Given the description of an element on the screen output the (x, y) to click on. 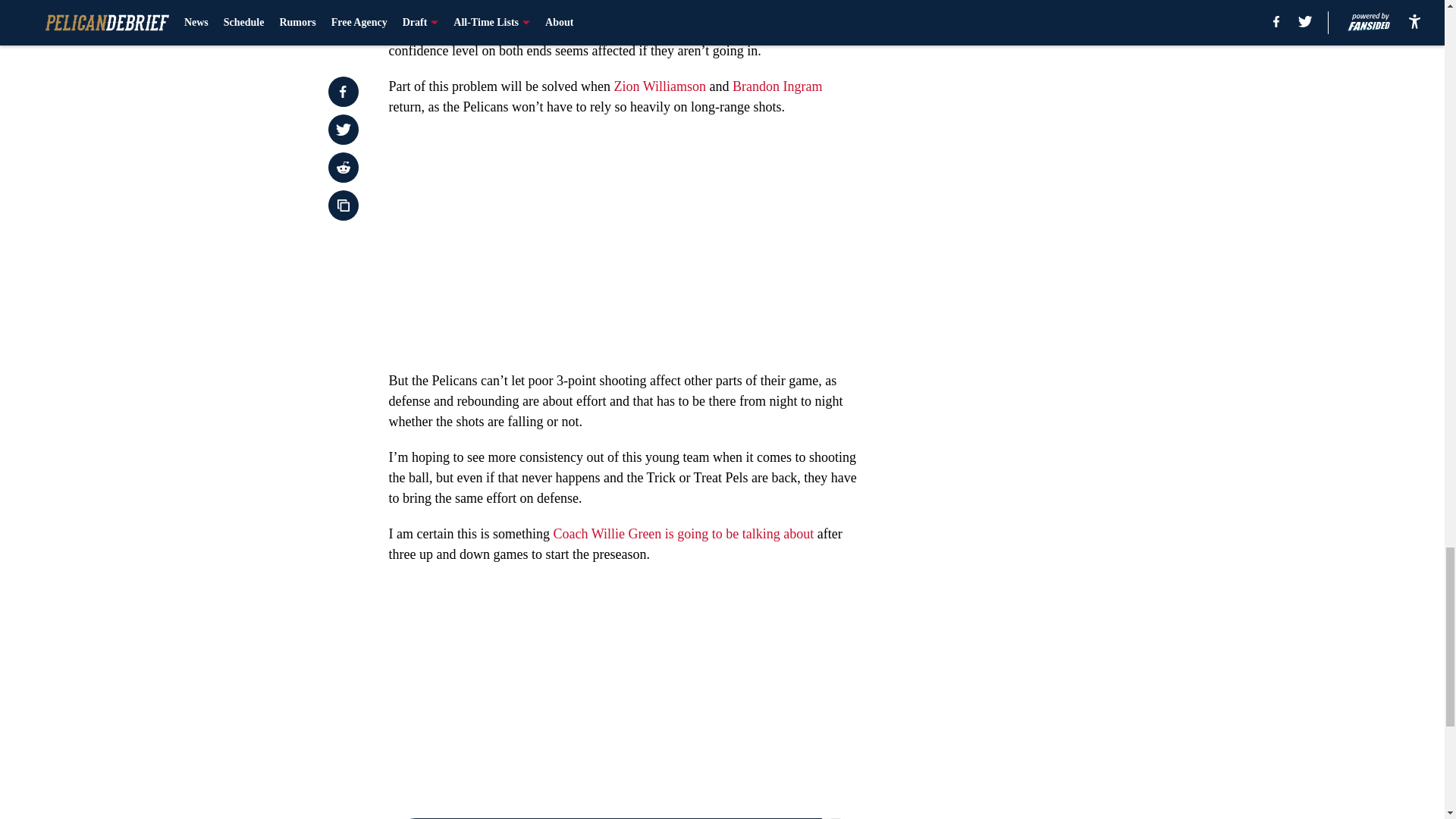
Zion Williamson (658, 86)
Brandon Ingram (777, 86)
Coach Willie Green is going to be talking about (683, 533)
